Given the description of an element on the screen output the (x, y) to click on. 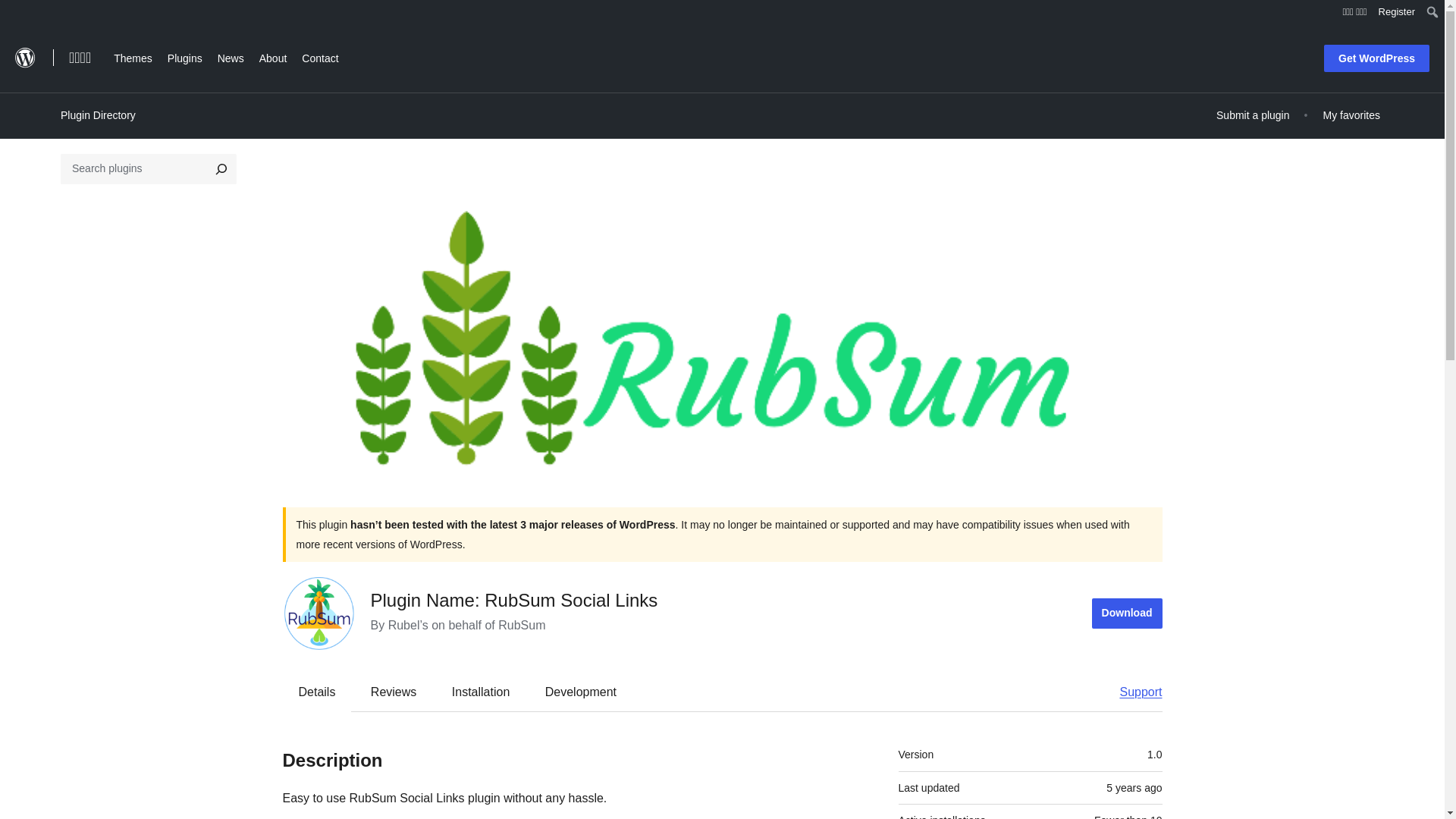
Details (316, 692)
Submit a plugin (1253, 115)
My favorites (1351, 115)
Register (1397, 12)
Reviews (392, 692)
Support (1132, 692)
Development (580, 692)
Download (1126, 613)
Get WordPress (1376, 58)
Installation (480, 692)
Plugin Directory (97, 115)
